Given the description of an element on the screen output the (x, y) to click on. 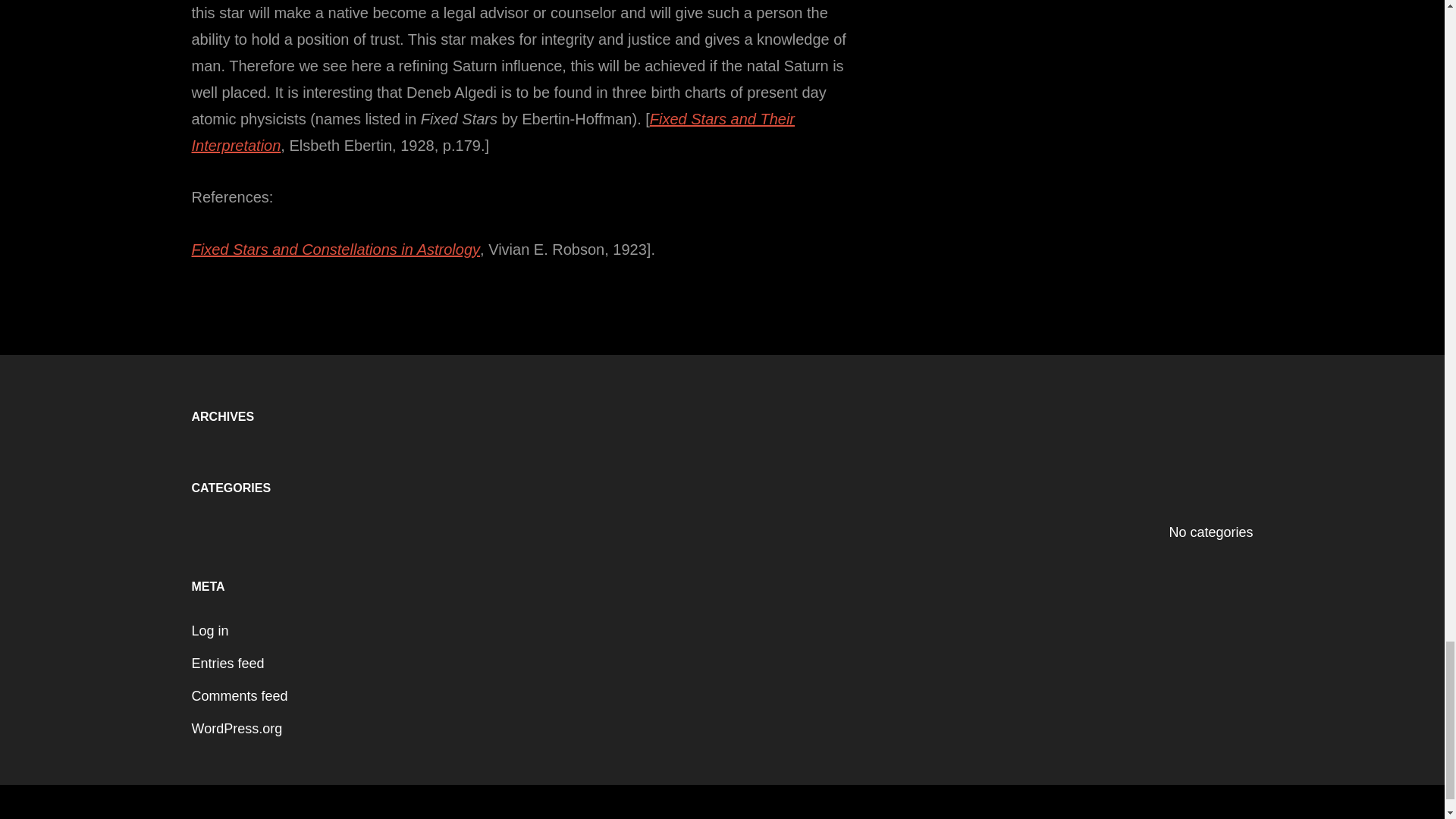
WEN Themes (854, 818)
Constellations Of Words (692, 818)
Comments feed (238, 695)
Fixed Stars and Their Interpretation (492, 131)
Log in (209, 630)
Entries feed (226, 663)
Fixed Stars and Constellations in Astrology (335, 248)
WordPress.org (236, 728)
